Given the description of an element on the screen output the (x, y) to click on. 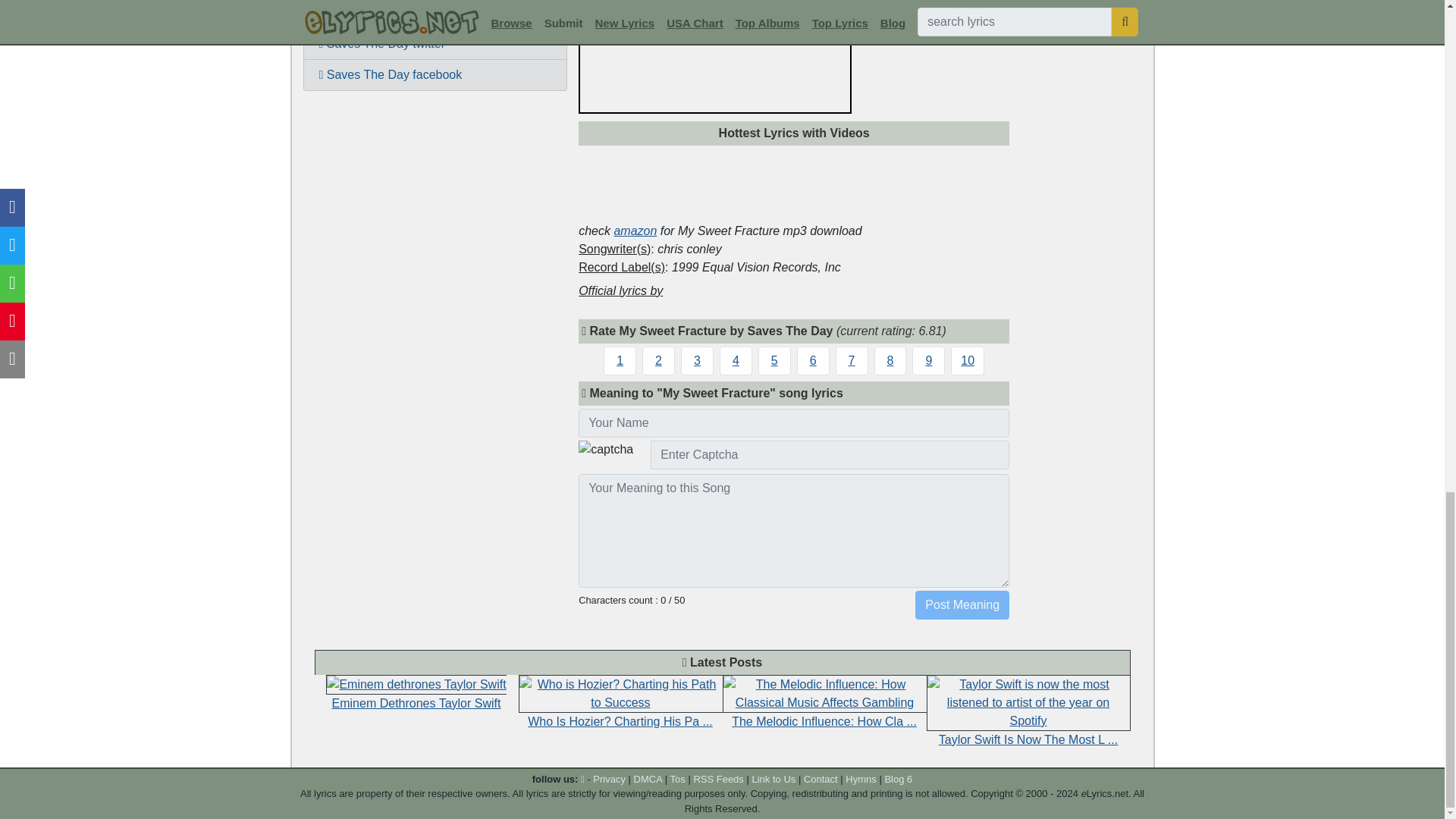
7 (851, 359)
Saves The Day facebook (434, 74)
Post Meaning (962, 604)
Saves The Day twitter (434, 43)
4 (735, 359)
8 (891, 359)
6 (812, 359)
2 (658, 359)
amazon (634, 230)
My Sweet Fracture video (434, 14)
3 (697, 359)
1 (620, 359)
5 (774, 359)
